Given the description of an element on the screen output the (x, y) to click on. 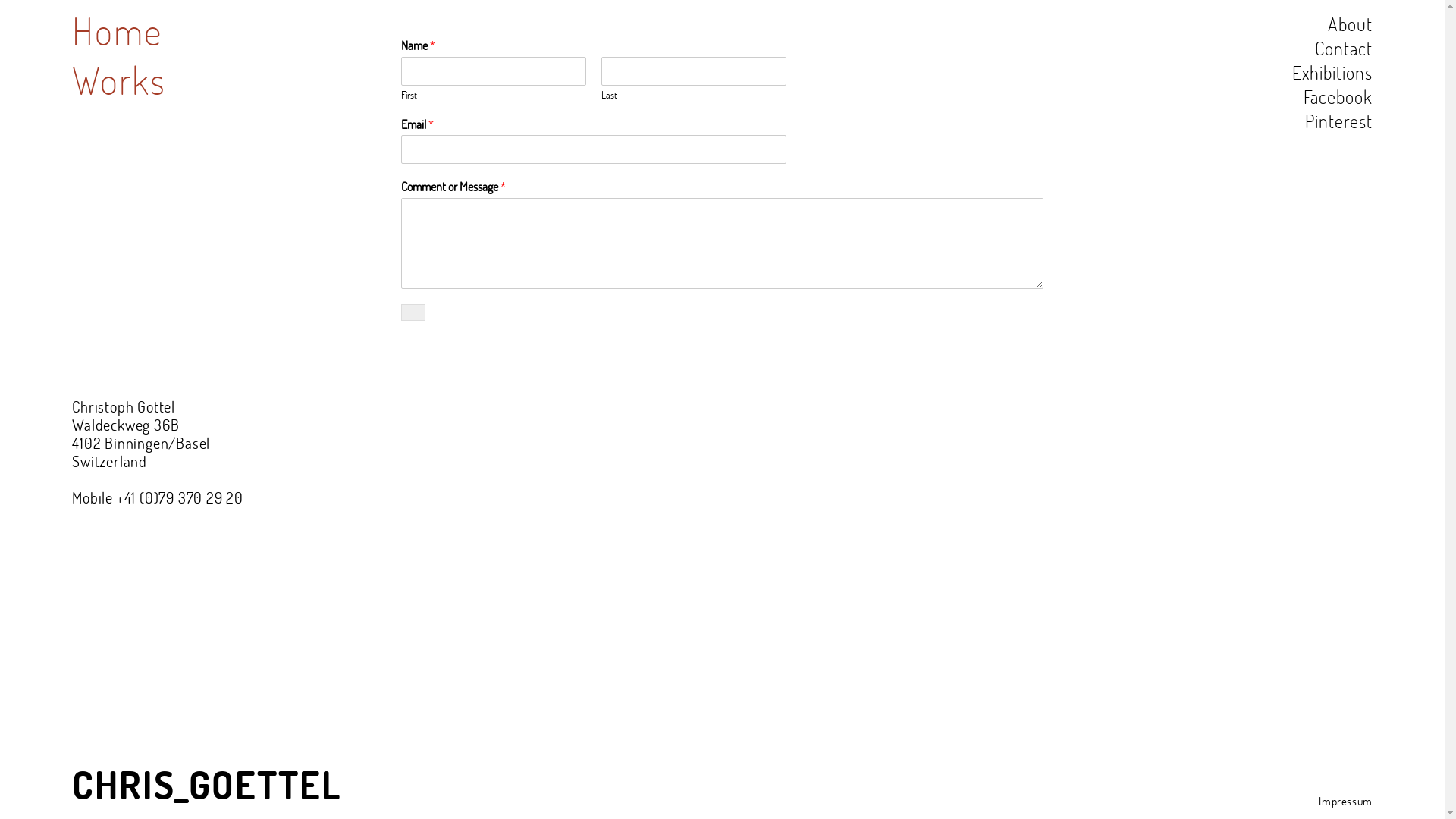
Submit Element type: text (413, 312)
Works Element type: text (119, 79)
Exhibitions Element type: text (1332, 72)
About Element type: text (1349, 23)
CHRIS_GOETTEL Element type: text (206, 784)
Facebook Element type: text (1337, 96)
Pinterest Element type: text (1338, 120)
Home Element type: text (117, 30)
Impressum Element type: text (1344, 800)
Contact Element type: text (1343, 47)
